Given the description of an element on the screen output the (x, y) to click on. 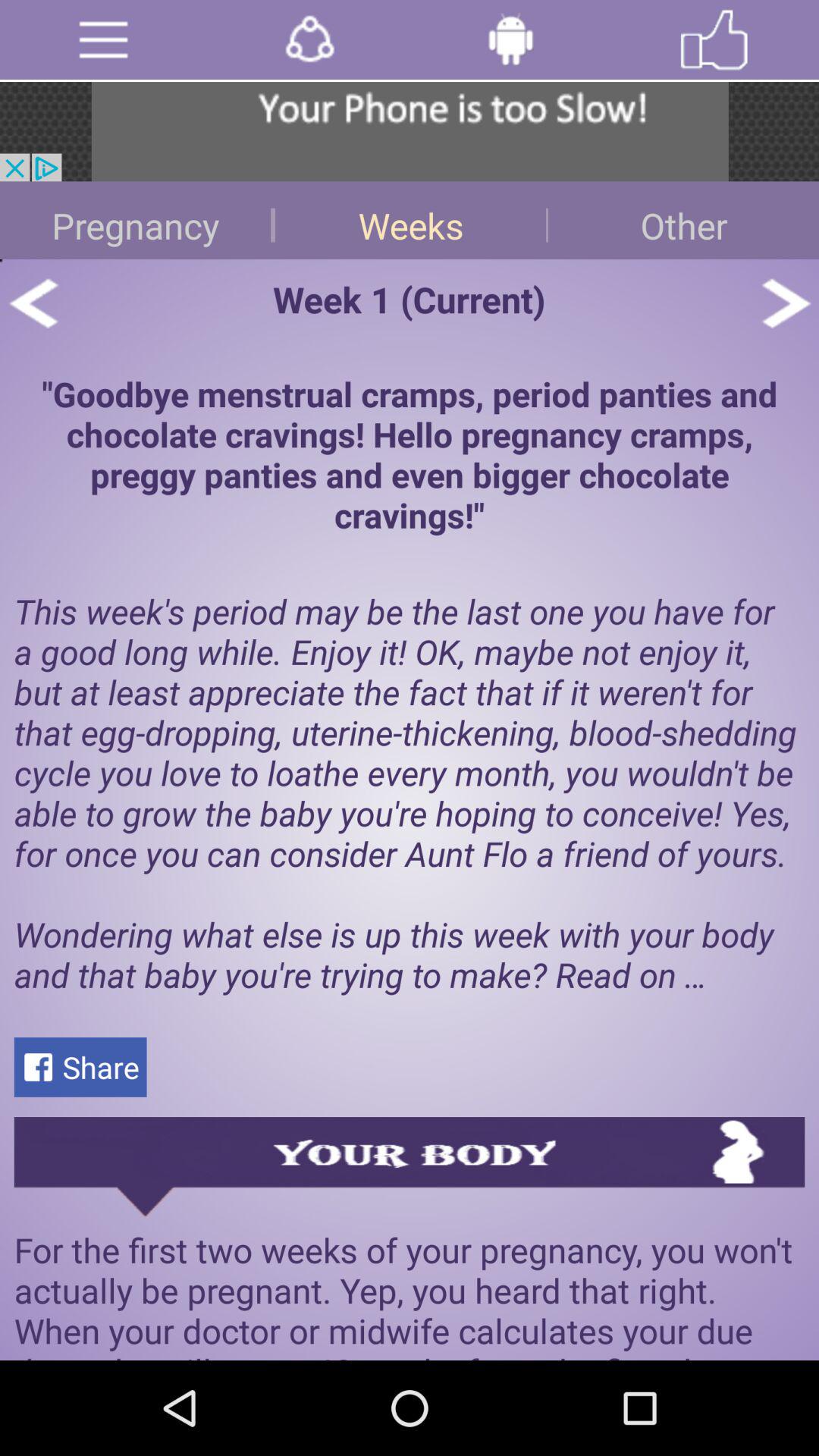
menu (103, 39)
